Given the description of an element on the screen output the (x, y) to click on. 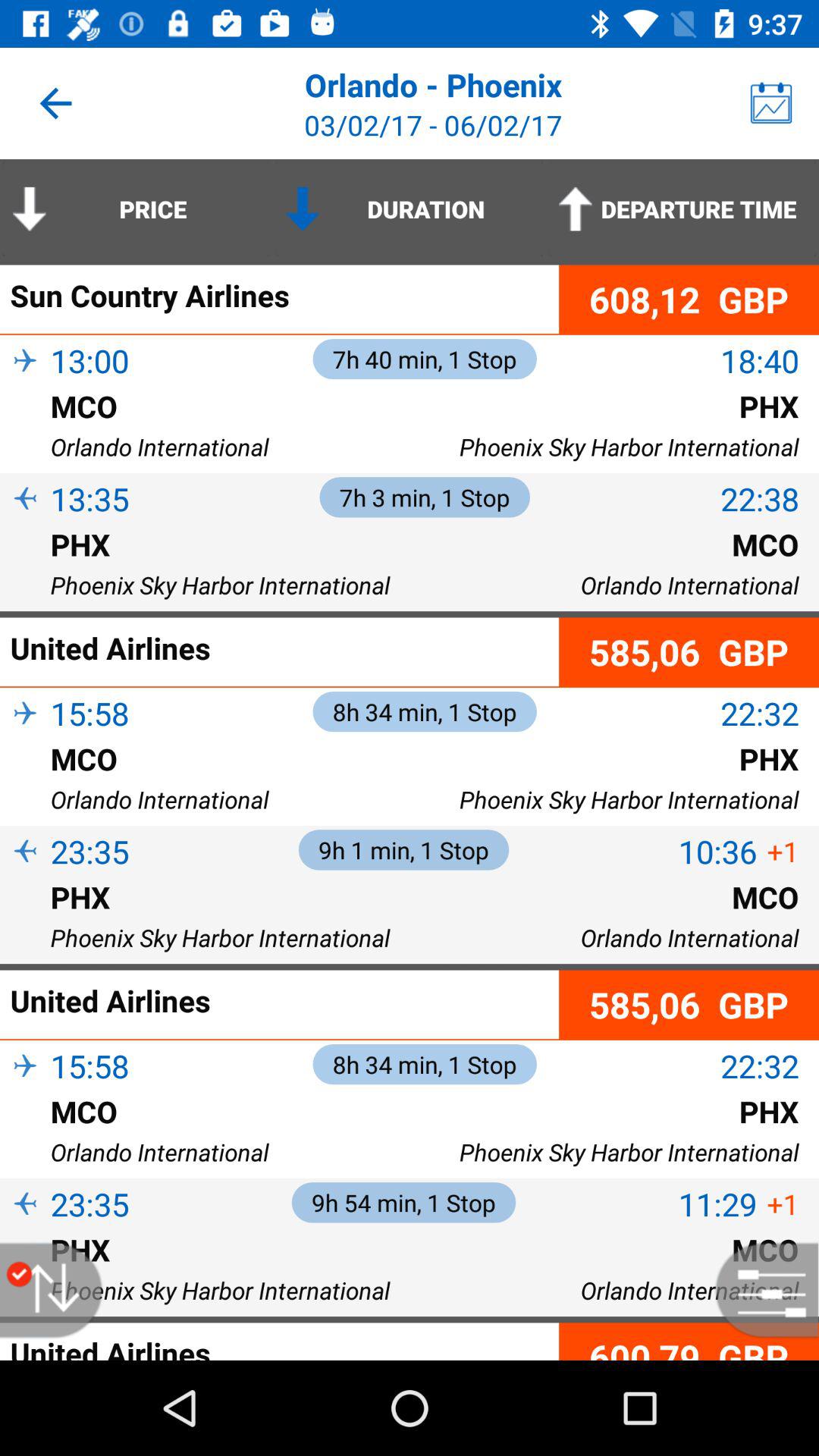
open the icon above orlando international (25, 1135)
